Given the description of an element on the screen output the (x, y) to click on. 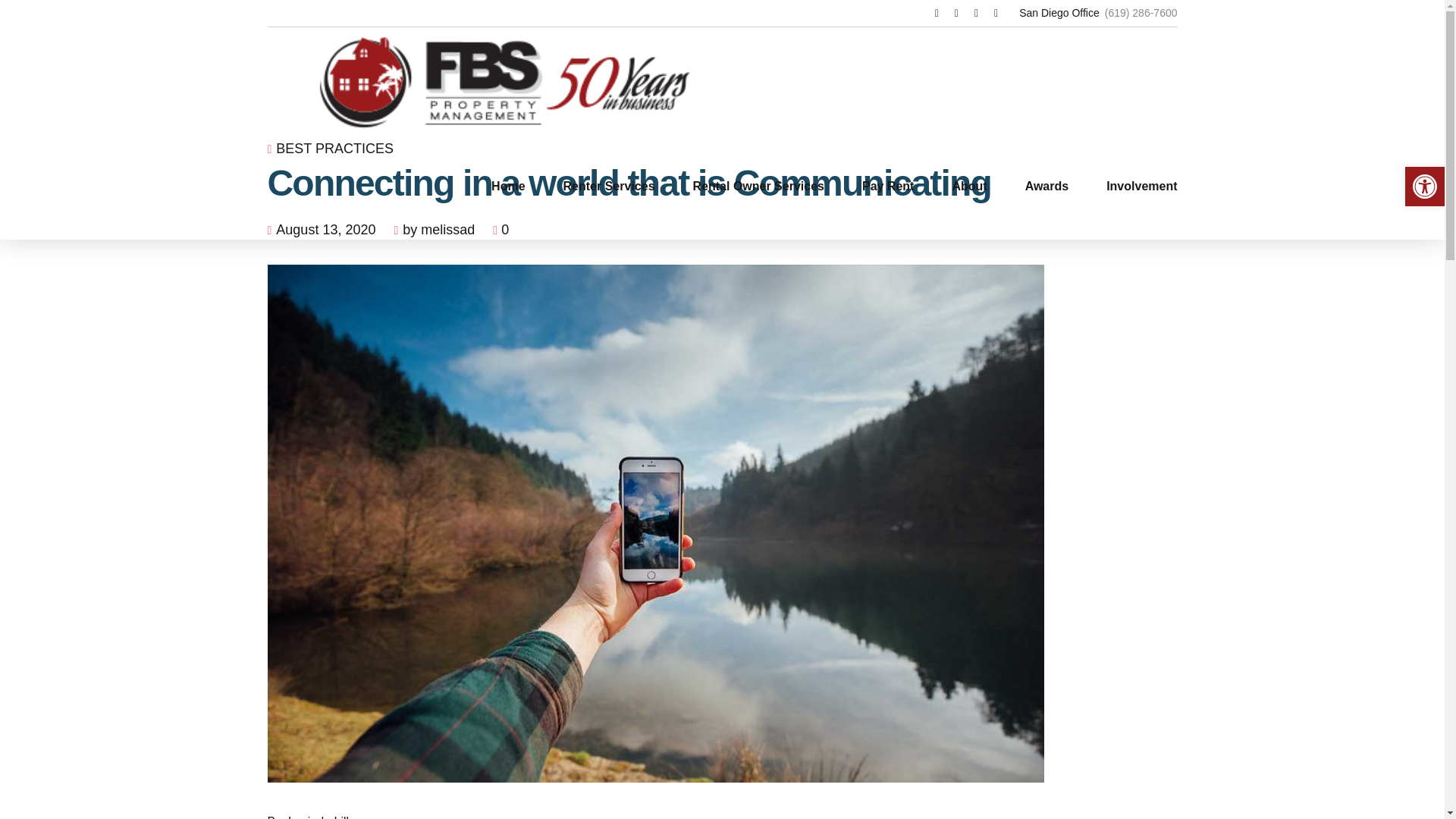
Accessibility Tools (1424, 186)
Rental Owner Services (758, 186)
